Given the description of an element on the screen output the (x, y) to click on. 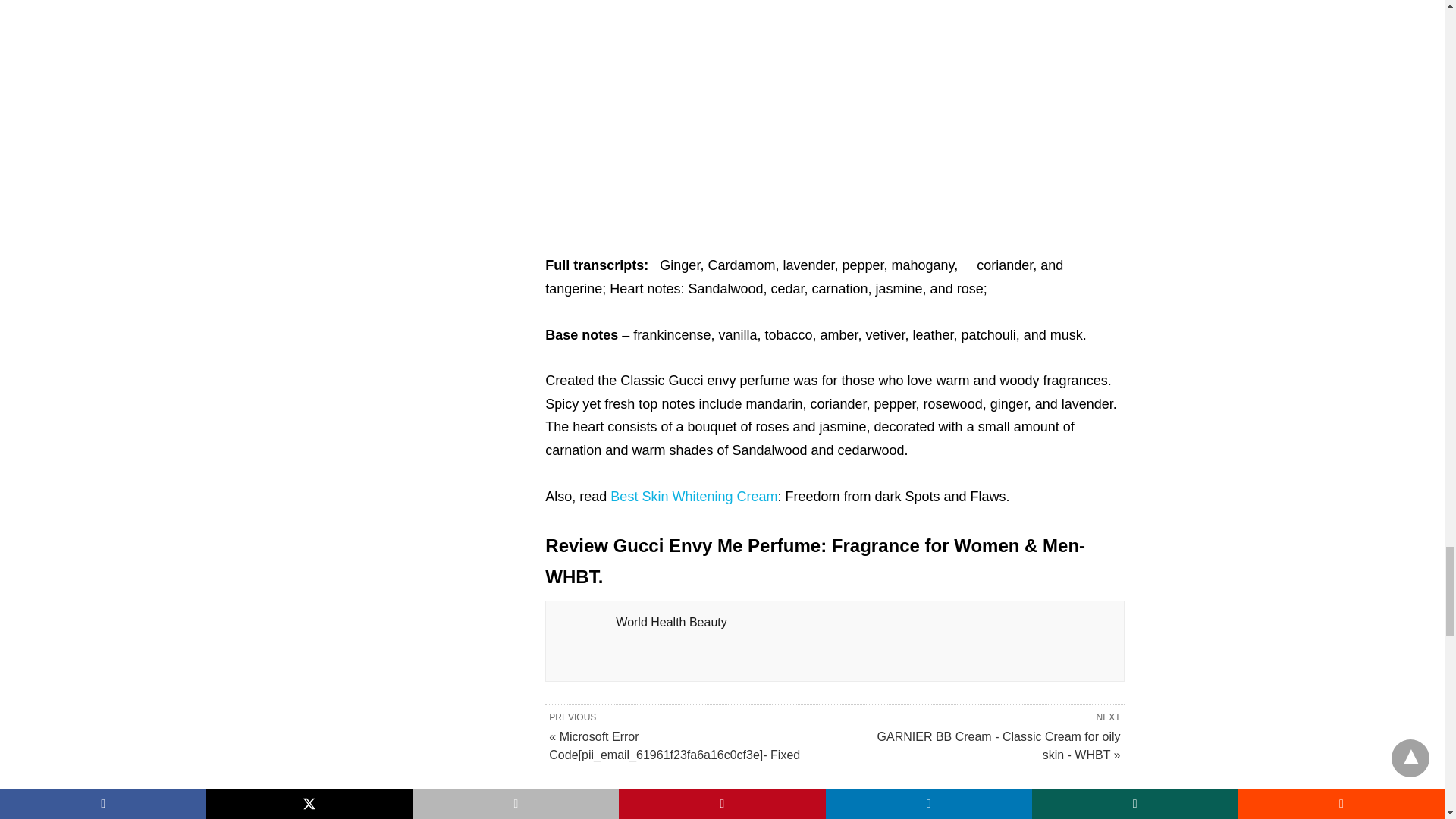
Best Skin Whitening Cream (693, 496)
